Given the description of an element on the screen output the (x, y) to click on. 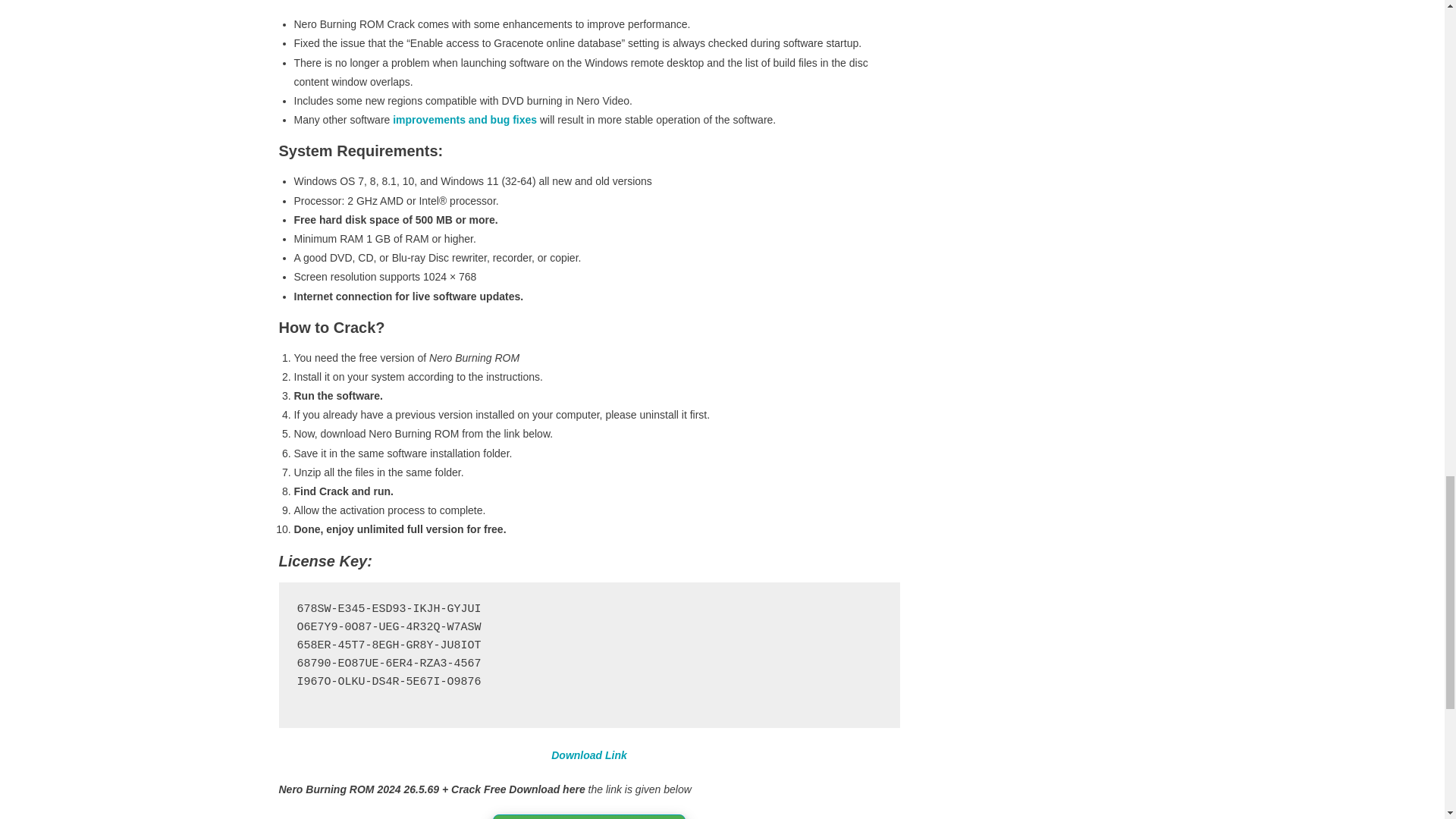
improvements and bug fixes (465, 119)
DOWNLOAD NOW (589, 816)
Download Link (589, 755)
